Given the description of an element on the screen output the (x, y) to click on. 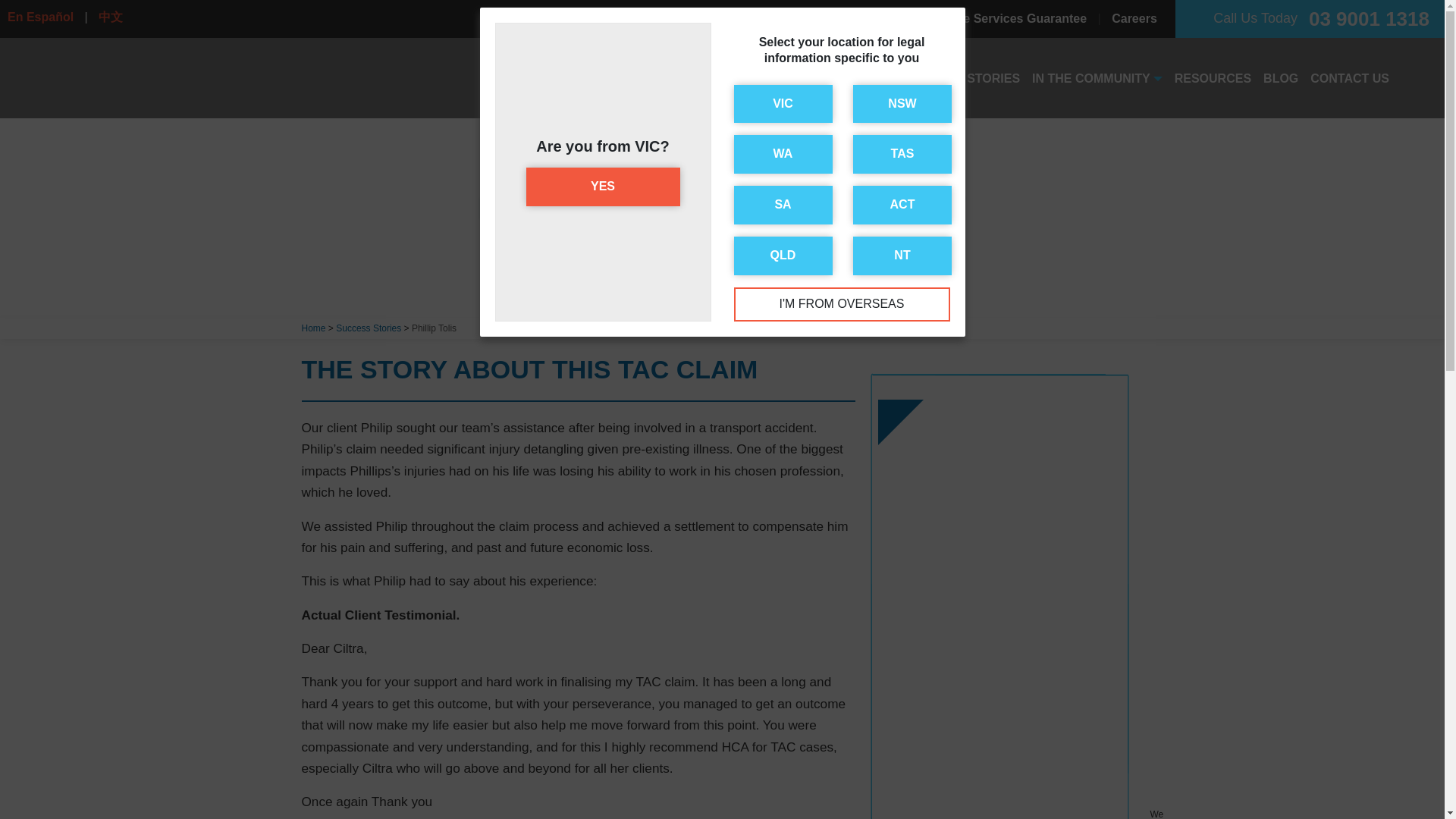
FAQ (705, 18)
OUR PEOPLE (846, 78)
Careers (1134, 18)
LEGAL SERVICES (729, 78)
Call Us Today 03 9001 1318 (1309, 17)
No Win - No Fee (788, 18)
